Given the description of an element on the screen output the (x, y) to click on. 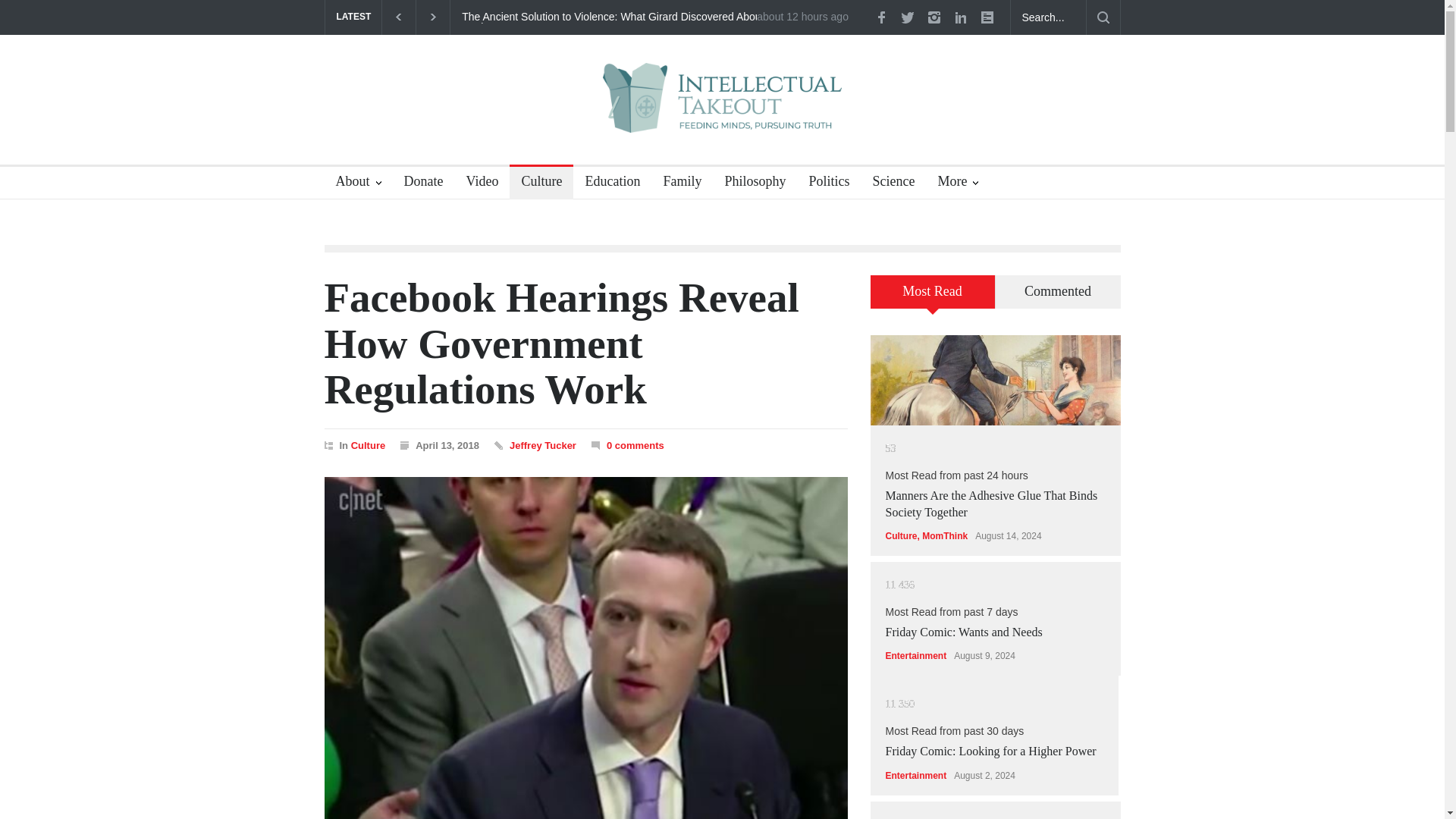
More (958, 183)
Search... (1048, 17)
Politics (822, 183)
Family (675, 183)
About (358, 183)
0 comments (635, 445)
Philosophy (749, 183)
2024-08-14T06:30:50-0500 (802, 16)
